Given the description of an element on the screen output the (x, y) to click on. 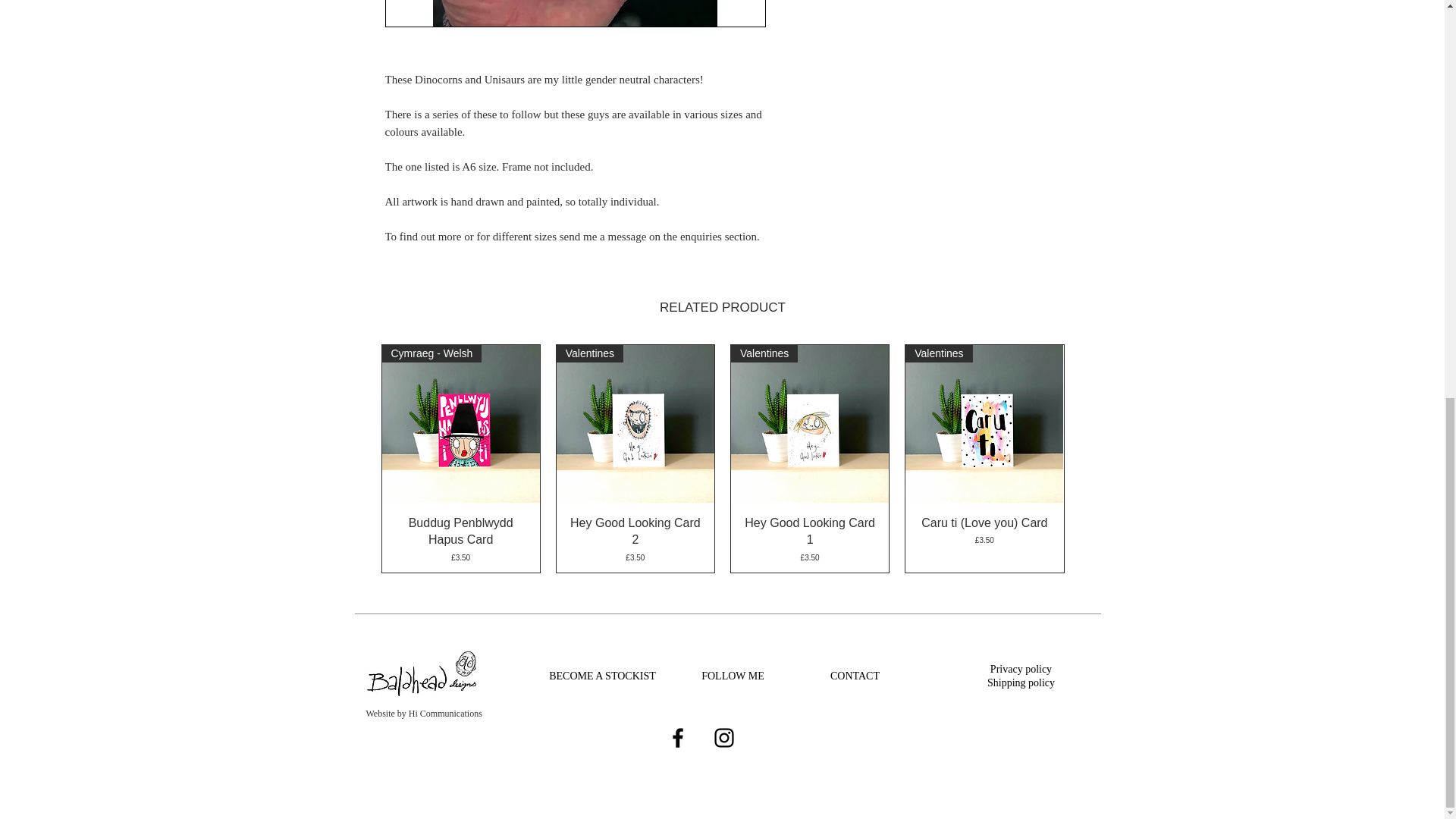
Valentines (635, 423)
Valentines (983, 423)
Valentines (809, 423)
Cymraeg - Welsh (460, 423)
